Given the description of an element on the screen output the (x, y) to click on. 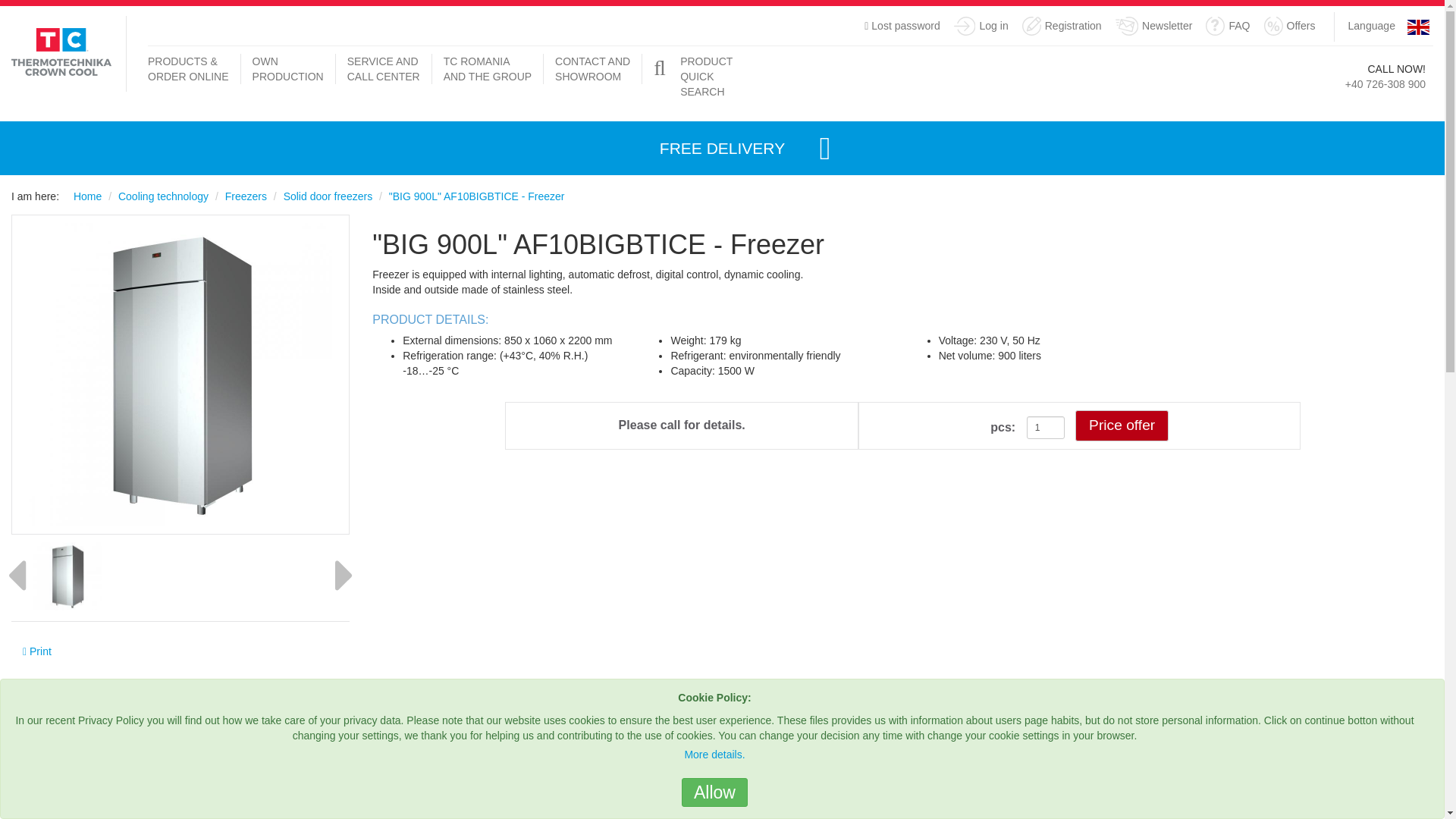
1 (1045, 427)
Log in (981, 26)
FAQ (1227, 26)
Newsletter (1153, 26)
Offers (1288, 26)
Language (1372, 25)
Registration (1062, 26)
Lost password (902, 24)
